Given the description of an element on the screen output the (x, y) to click on. 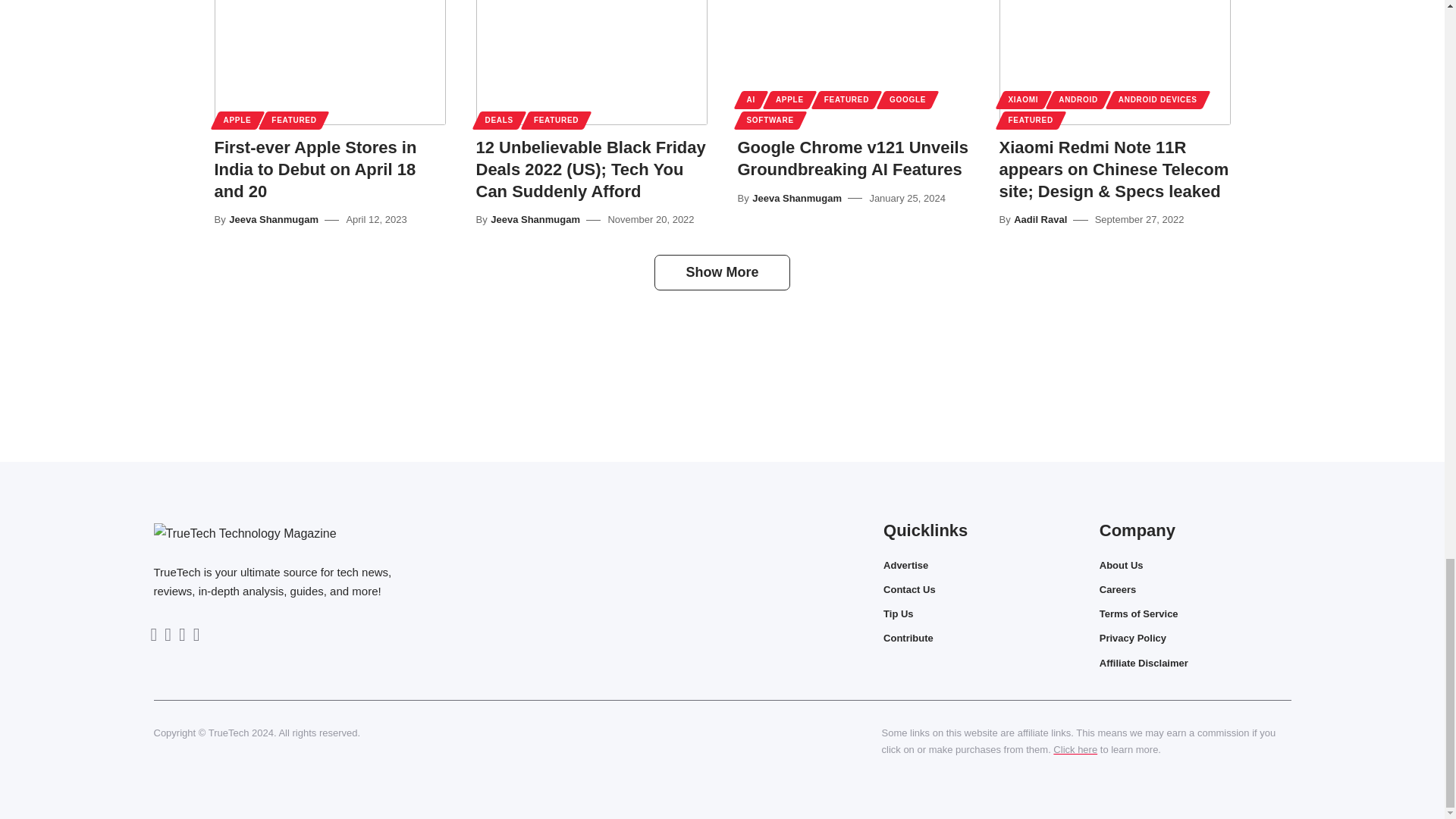
Google Chrome v121 Unveils Groundbreaking AI Features (852, 62)
First-ever Apple Stores in India to Debut on April 18 and 20 (329, 62)
